Given the description of an element on the screen output the (x, y) to click on. 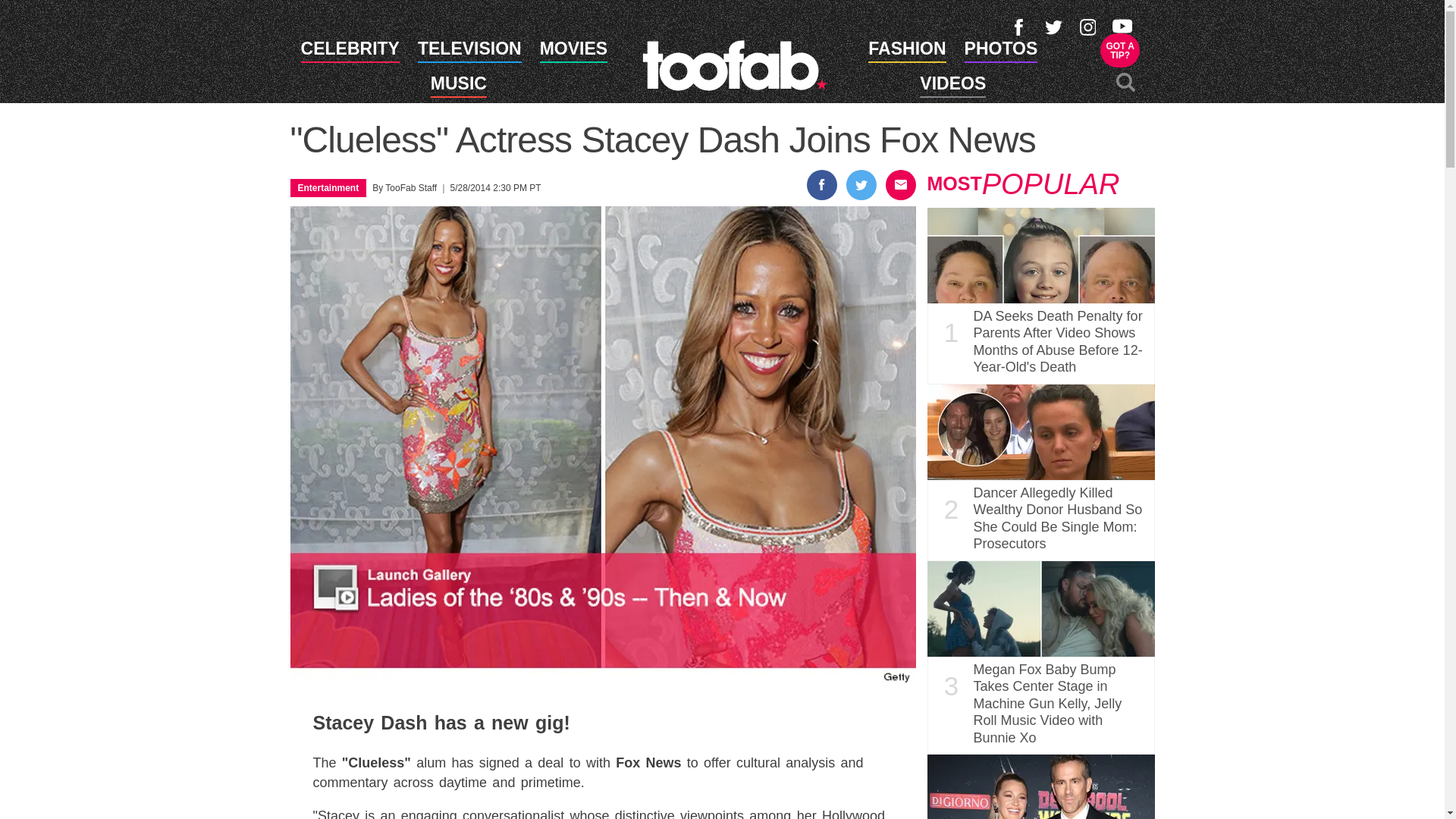
MOVIES (573, 51)
PHOTOS (1000, 51)
toofab (734, 64)
TELEVISION (469, 51)
VIDEOS (952, 86)
CELEBRITY (349, 51)
FASHION (905, 51)
Entertainment (327, 187)
MUSIC (1120, 50)
